Given the description of an element on the screen output the (x, y) to click on. 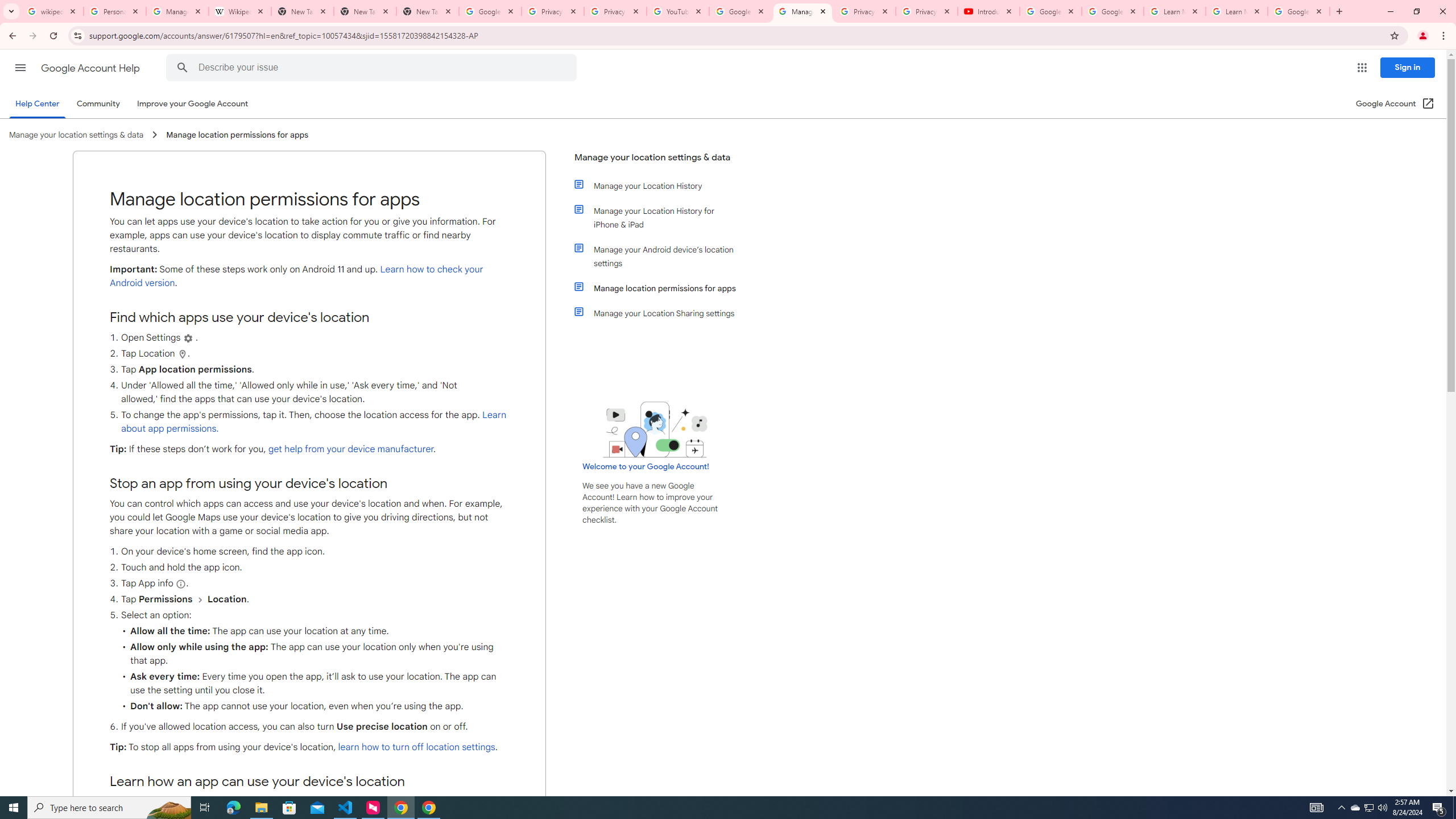
learn how to turn off location settings (416, 747)
YouTube (678, 11)
Google Account Help (1050, 11)
Search Help Center (181, 67)
Manage your location settings & data (656, 161)
Google Drive: Sign-in (490, 11)
Welcome to your Google Account! (645, 466)
Personalization & Google Search results - Google Search Help (114, 11)
Wikipedia:Edit requests - Wikipedia (239, 11)
Manage your Location History - Google Search Help (177, 11)
